Given the description of an element on the screen output the (x, y) to click on. 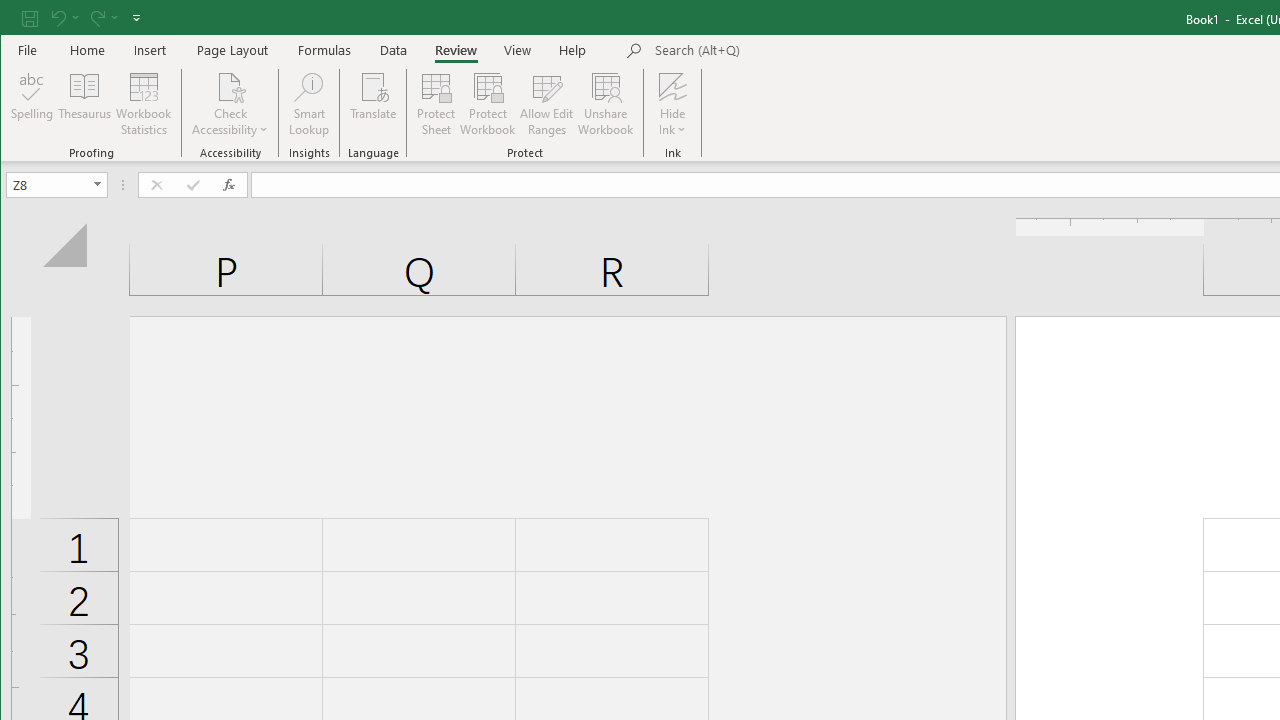
Smart Lookup (308, 104)
Protect Workbook... (488, 104)
Thesaurus... (84, 104)
Unshare Workbook (606, 104)
